Given the description of an element on the screen output the (x, y) to click on. 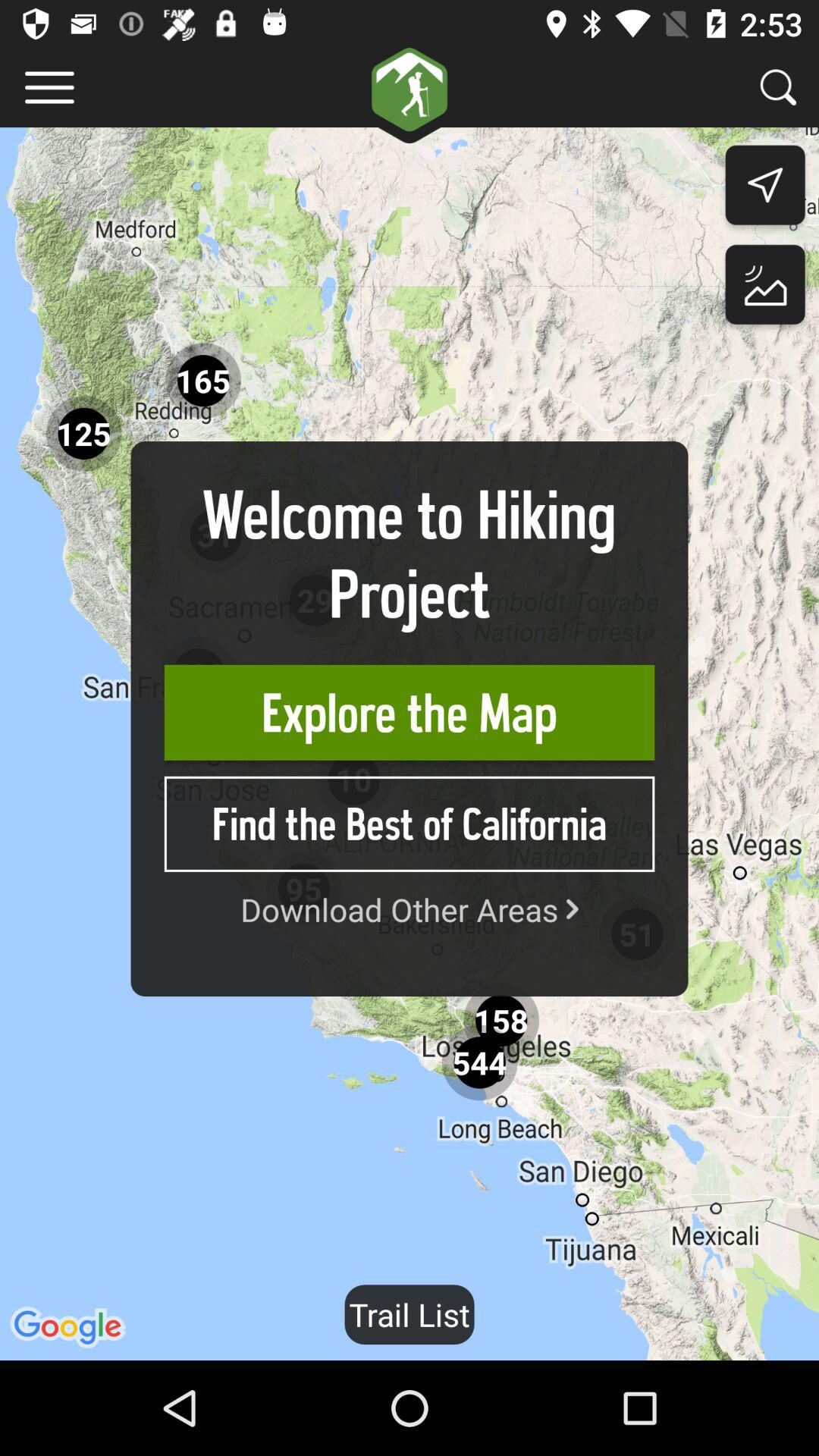
more details (49, 87)
